Given the description of an element on the screen output the (x, y) to click on. 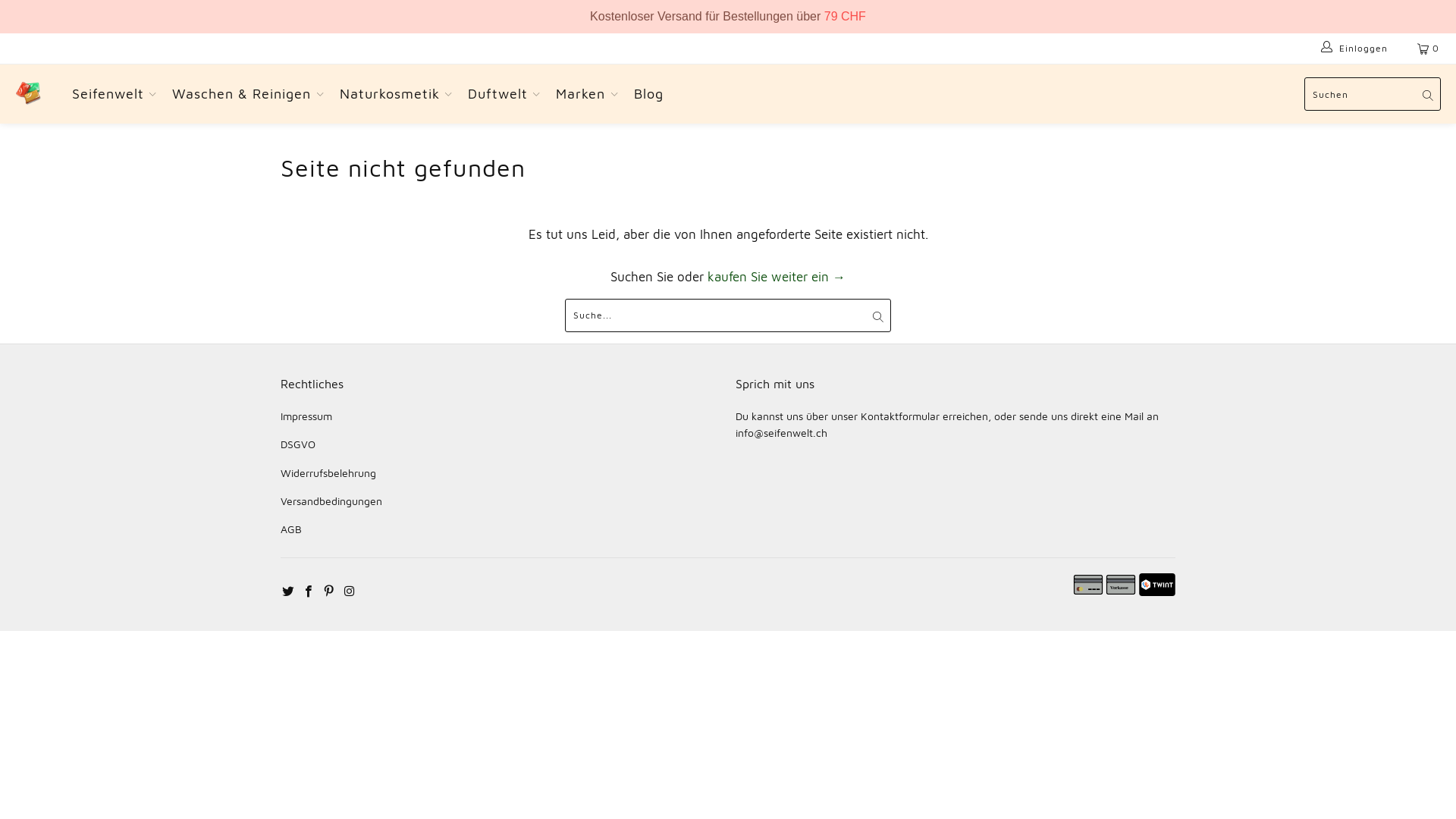
Waschen & Reinigen Element type: text (247, 93)
Impressum Element type: text (306, 415)
Widerrufsbelehrung Element type: text (328, 472)
Naturkosmetik Element type: text (395, 93)
Duftwelt Element type: text (503, 93)
Seifenwelt Element type: text (114, 93)
info@seifenwelt.ch Element type: text (781, 432)
Einloggen Element type: text (1355, 48)
Seifenwelt.ch on Instagram Element type: hover (349, 589)
Seifenwelt.ch on Facebook Element type: hover (308, 589)
DSGVO Element type: text (297, 443)
Seifenwelt.ch Element type: hover (28, 93)
AGB Element type: text (290, 528)
Seifenwelt.ch on Twitter Element type: hover (288, 589)
Marken Element type: text (586, 93)
Blog Element type: text (648, 93)
Seifenwelt.ch on Pinterest Element type: hover (329, 589)
Versandbedingungen Element type: text (331, 500)
